Given the description of an element on the screen output the (x, y) to click on. 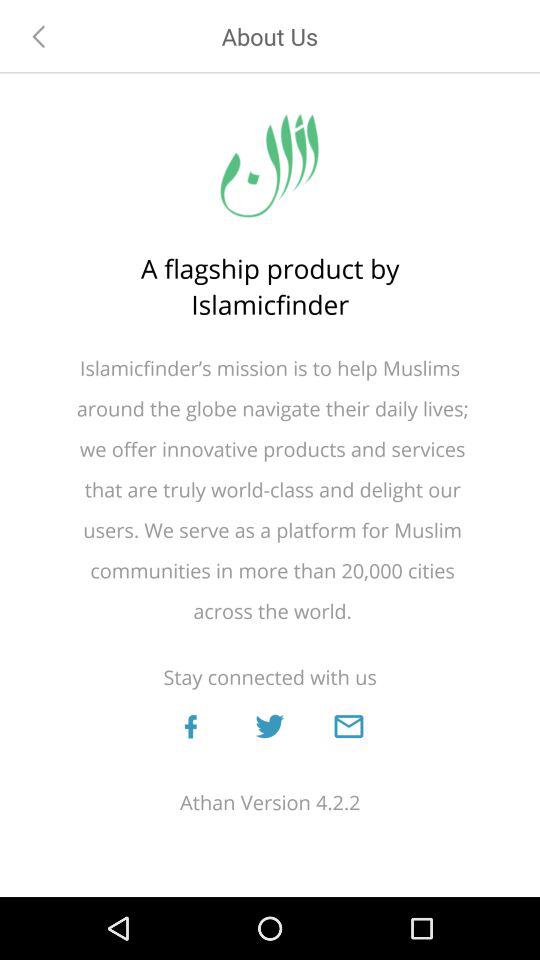
previous page (39, 36)
